Given the description of an element on the screen output the (x, y) to click on. 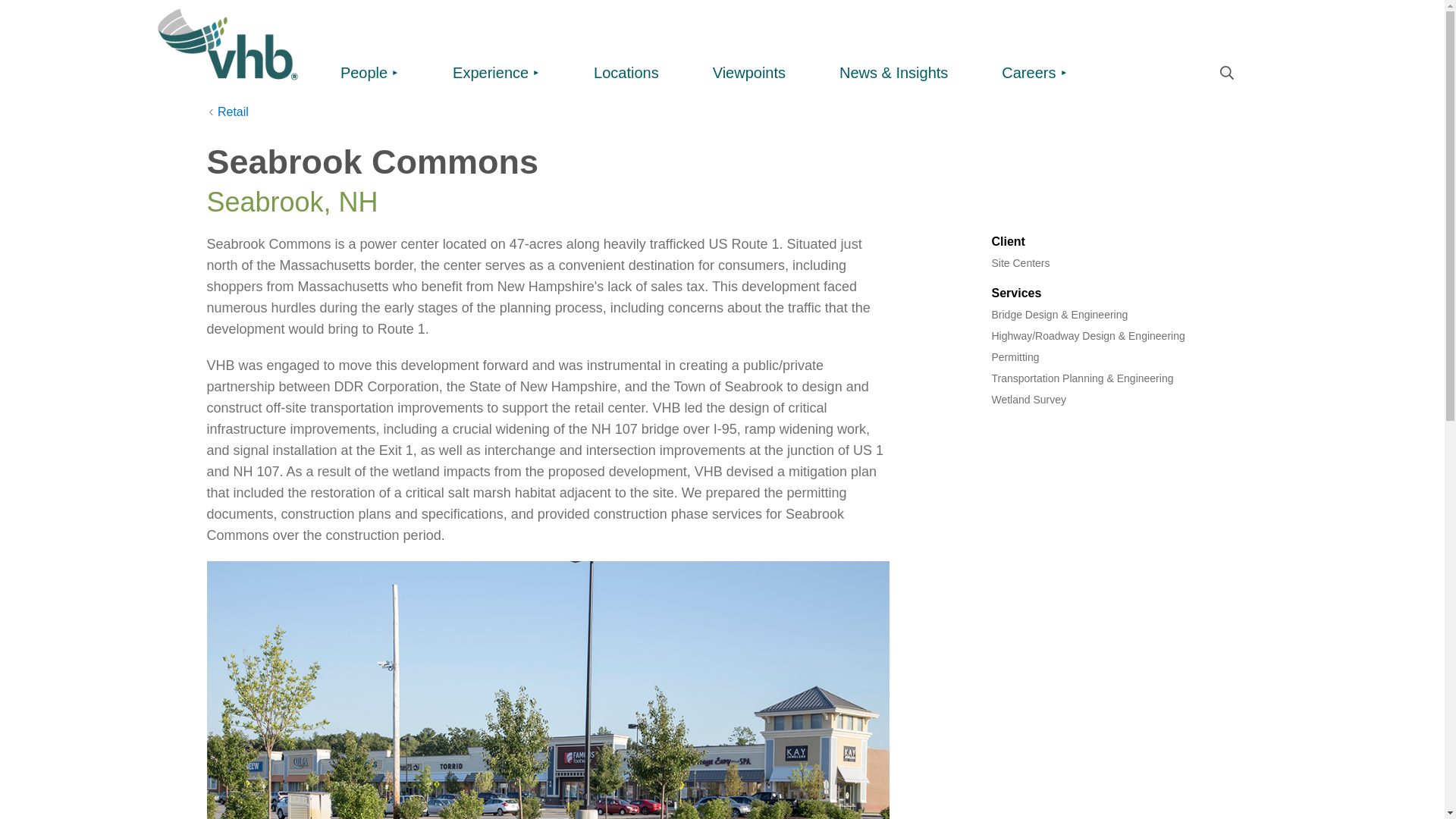
Locations (626, 73)
Viewpoints (749, 73)
Retail (226, 111)
